Given the description of an element on the screen output the (x, y) to click on. 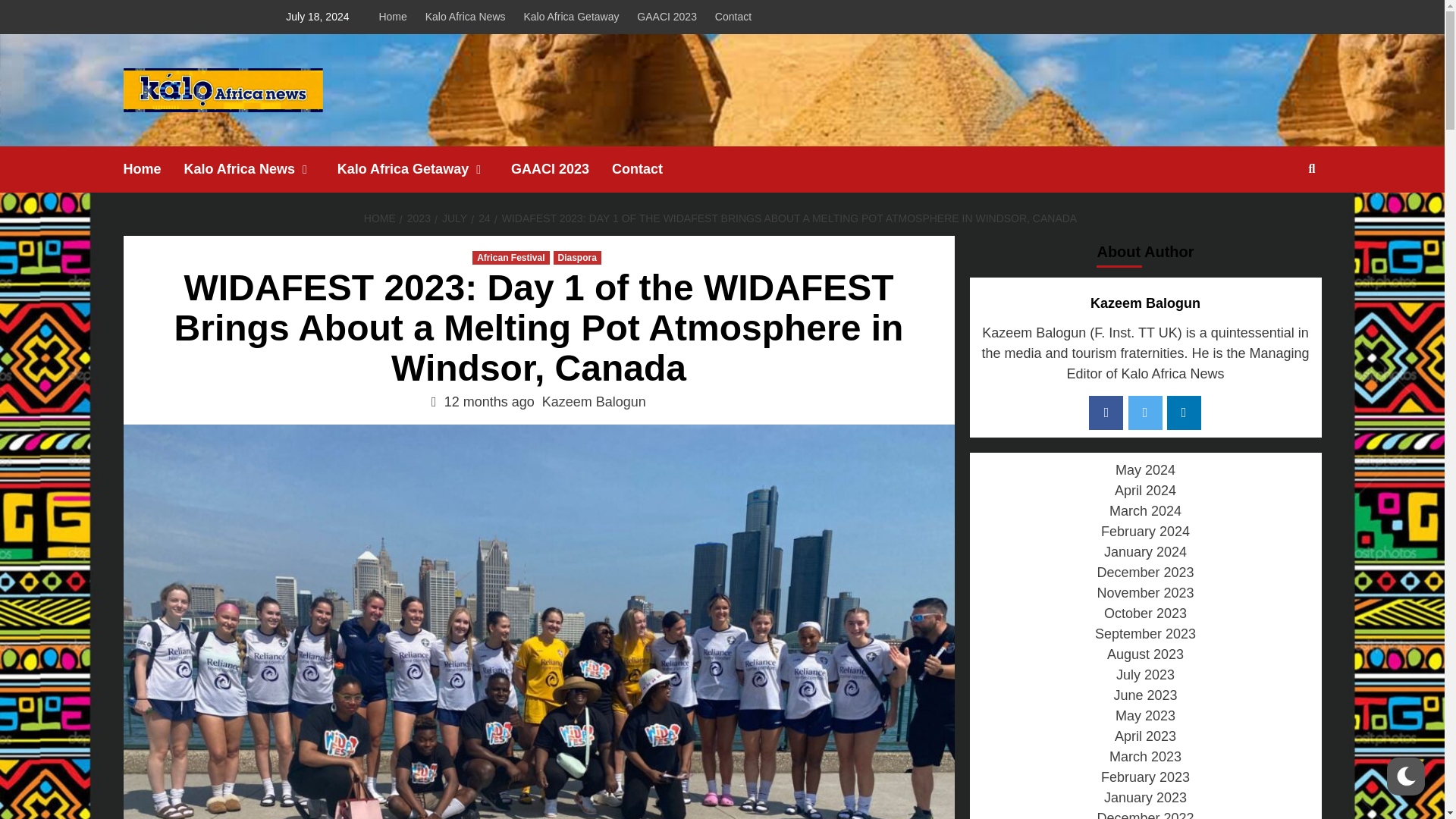
GAACI 2023 (666, 17)
2023 (415, 218)
GAACI 2023 (561, 169)
Contact (648, 169)
Kalo Africa Getaway (570, 17)
Diaspora (577, 257)
Contact (732, 17)
24 (482, 218)
Home (395, 17)
Kalo Africa News (260, 169)
Kalo Africa Getaway (424, 169)
Home (152, 169)
Kalo Africa News (465, 17)
JULY (451, 218)
